Given the description of an element on the screen output the (x, y) to click on. 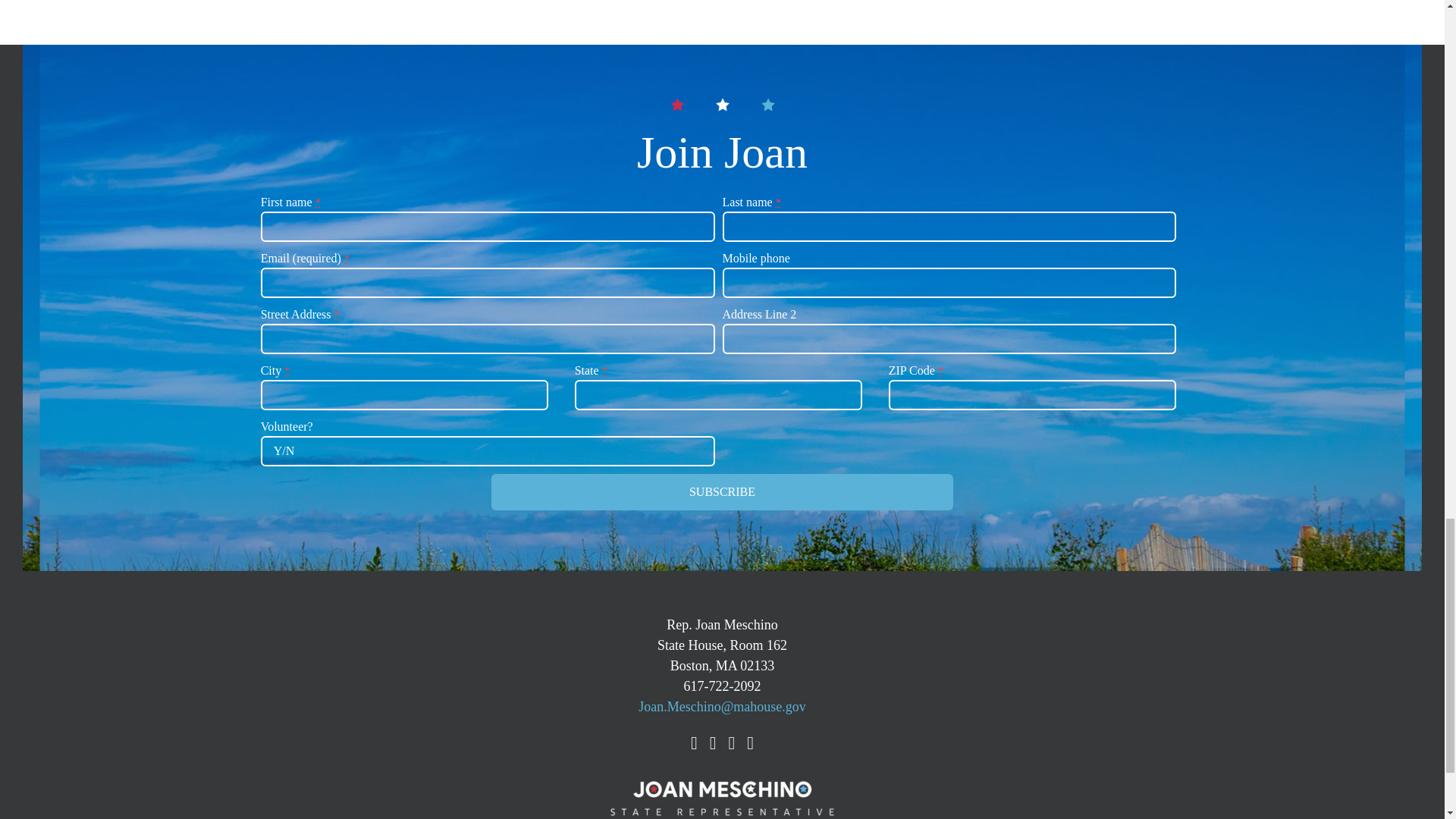
SUBSCRIBE (722, 492)
